Given the description of an element on the screen output the (x, y) to click on. 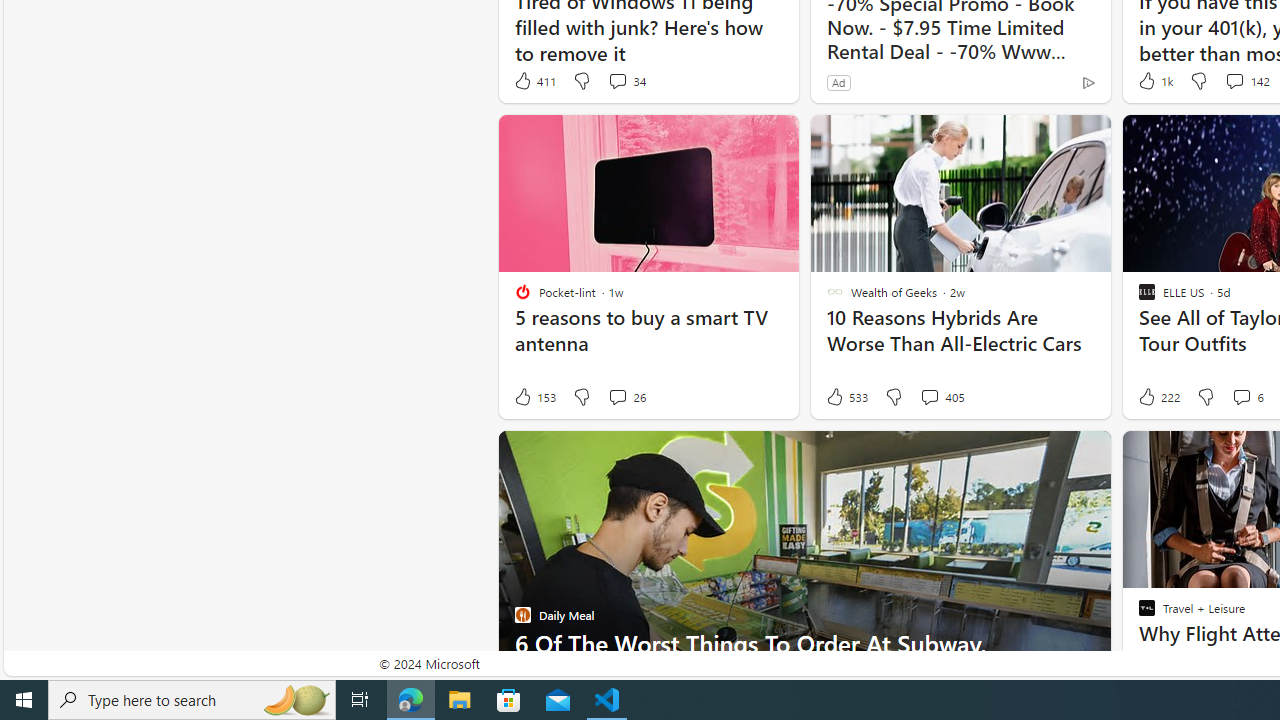
1k Like (1154, 80)
View comments 405 Comment (941, 397)
View comments 6 Comment (1241, 396)
View comments 26 Comment (617, 396)
View comments 142 Comment (1246, 80)
View comments 34 Comment (626, 80)
153 Like (534, 397)
View comments 34 Comment (617, 80)
222 Like (1157, 397)
411 Like (534, 80)
